Given the description of an element on the screen output the (x, y) to click on. 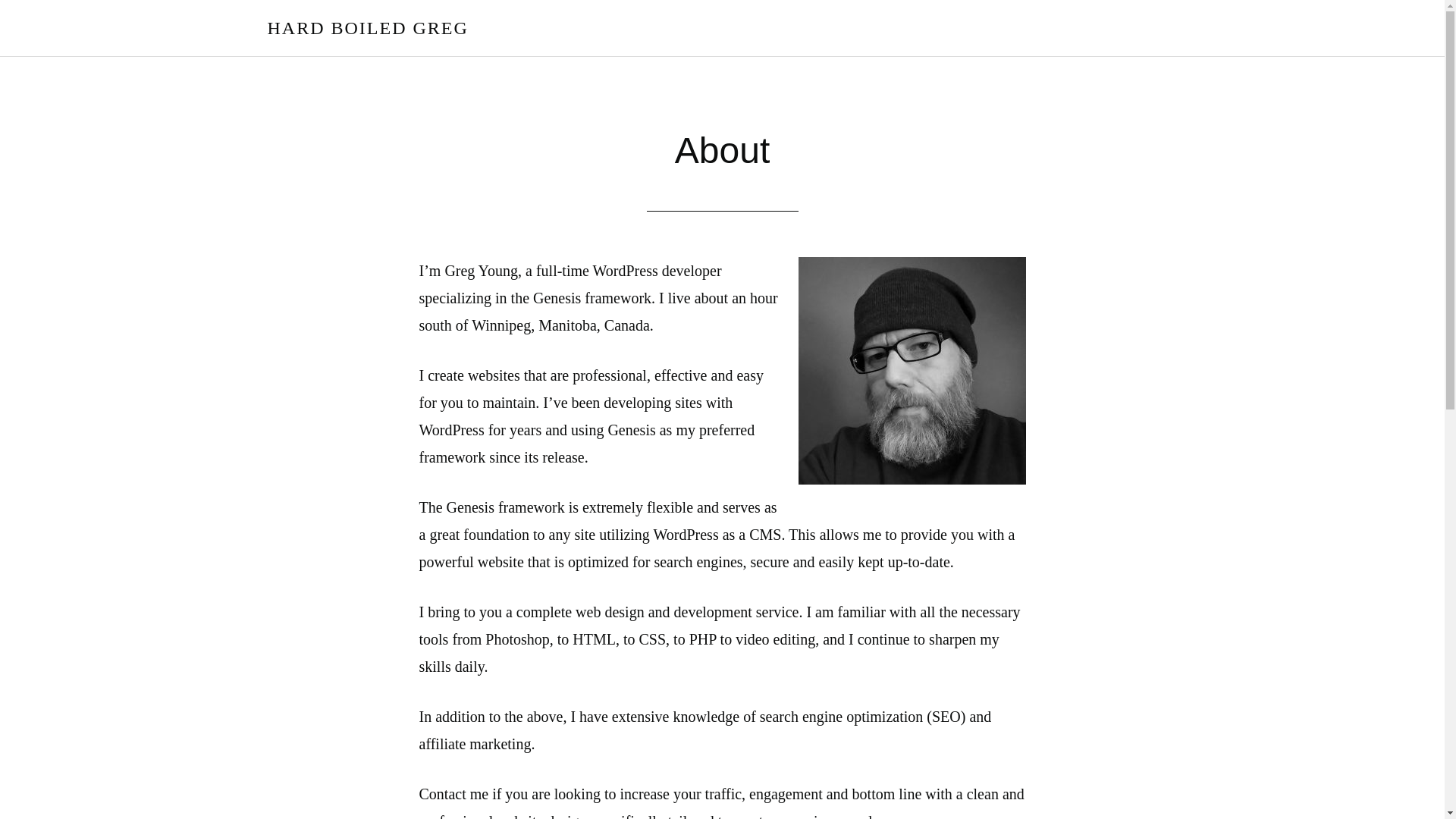
HARD BOILED GREG (366, 27)
